Given the description of an element on the screen output the (x, y) to click on. 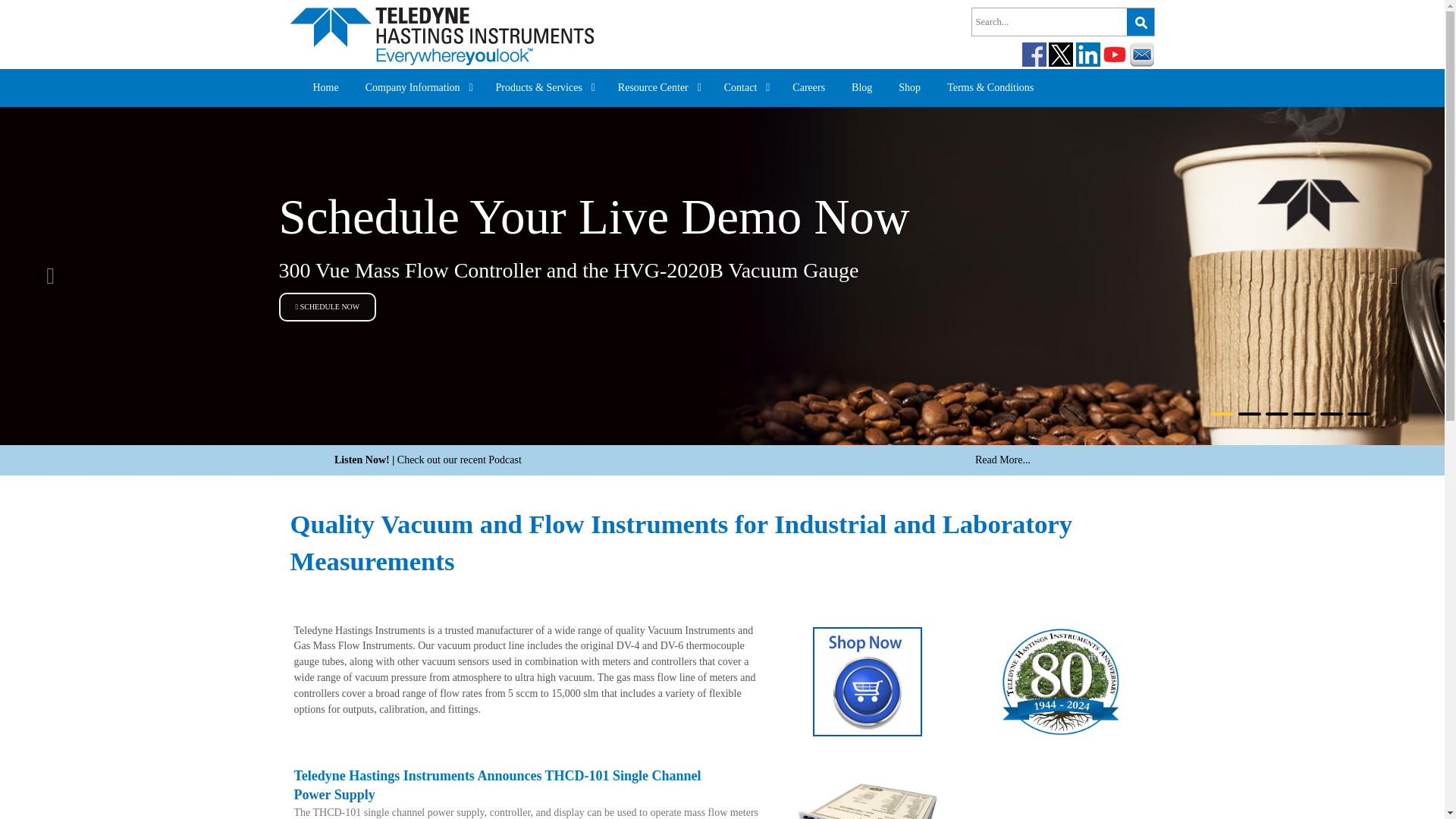
Follow us on Facebook (1034, 54)
Search (1140, 22)
Search... (1050, 22)
Company Information (418, 87)
Home (327, 87)
Online Store (984, 681)
Follow us on Linkedin (1087, 54)
Online Store (867, 680)
Contact Us (1141, 54)
Follow us on YouTube (1114, 54)
